Given the description of an element on the screen output the (x, y) to click on. 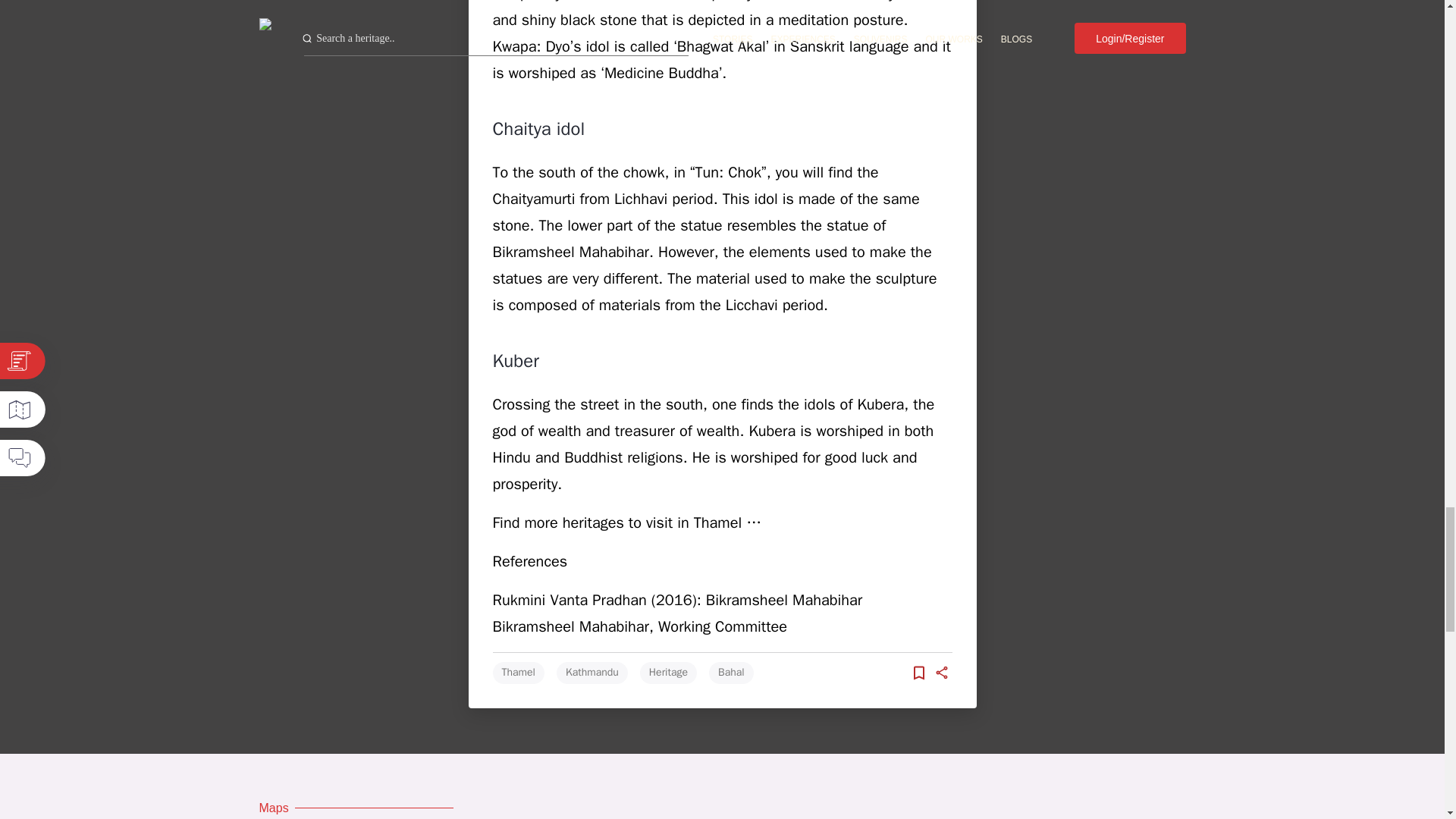
Heritage (668, 672)
Kathmandu (591, 672)
Bahal (731, 672)
Thamel (518, 672)
